Given the description of an element on the screen output the (x, y) to click on. 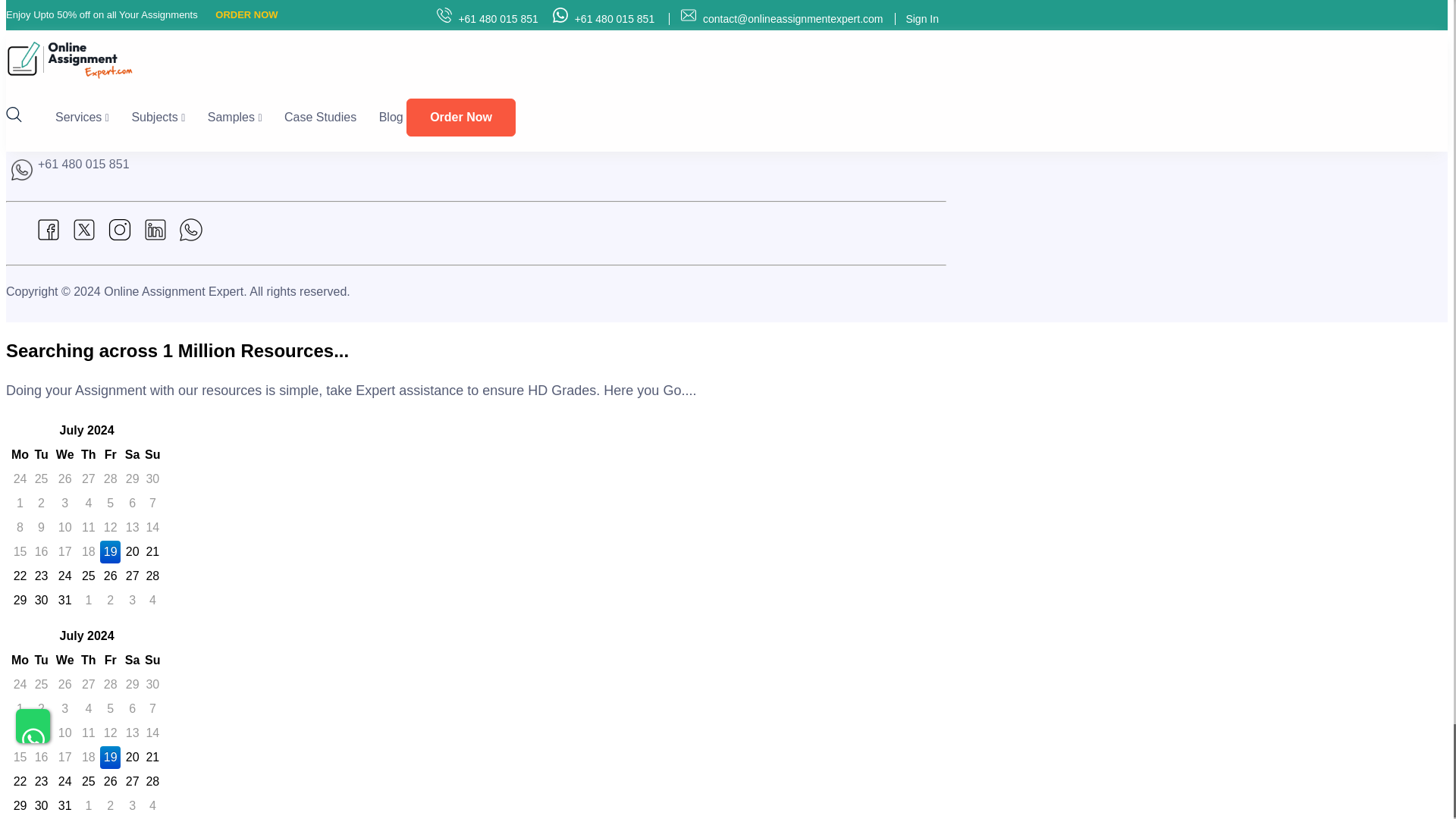
Follow us on WhatsApp (191, 237)
Follow us on Twitter (83, 237)
Follow us on Facebook (48, 237)
Follow us on LinkedIn (154, 237)
Follow us on Instagram (119, 237)
